Given the description of an element on the screen output the (x, y) to click on. 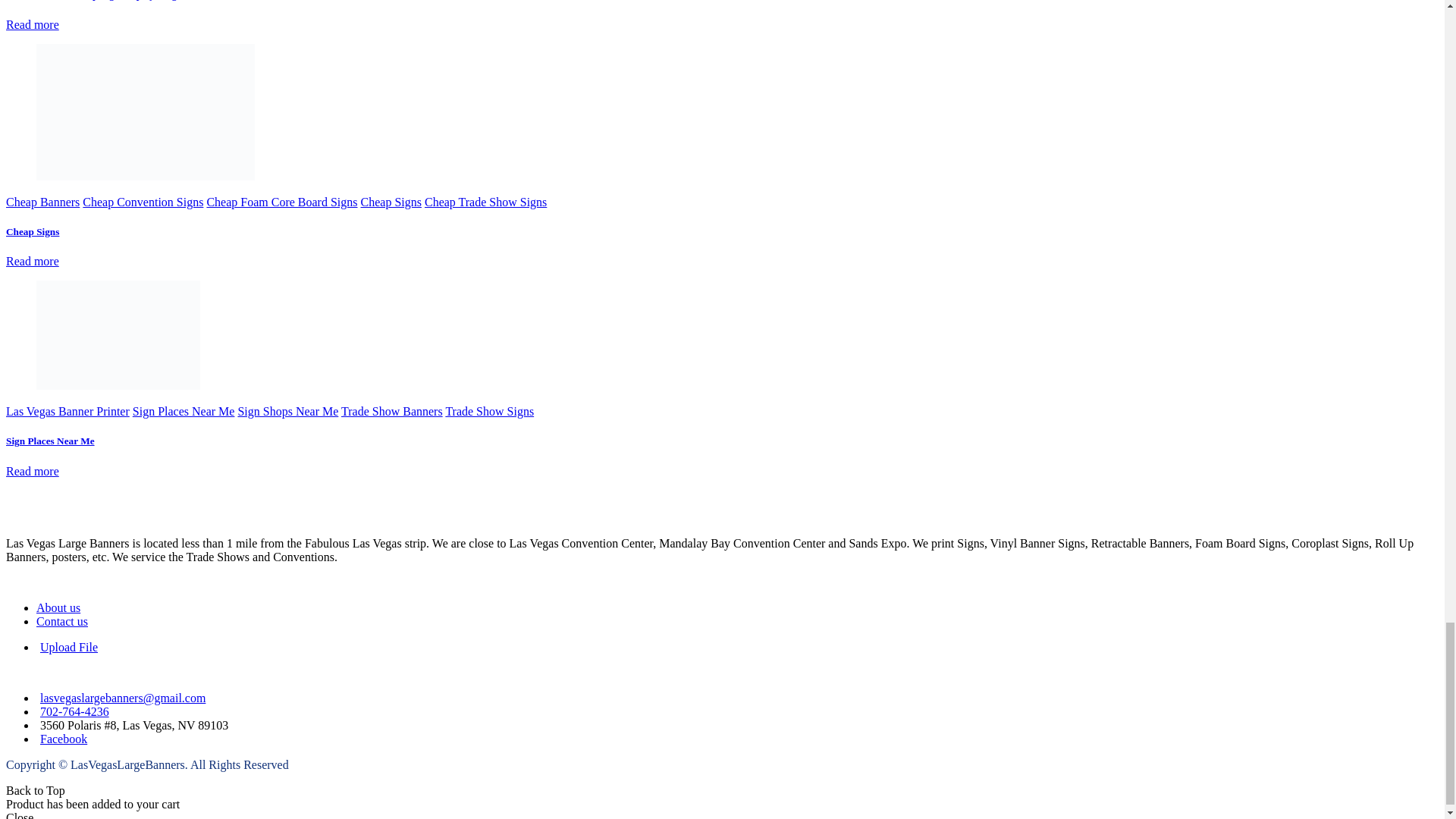
Back to Top (35, 789)
Back to Top (35, 789)
